Given the description of an element on the screen output the (x, y) to click on. 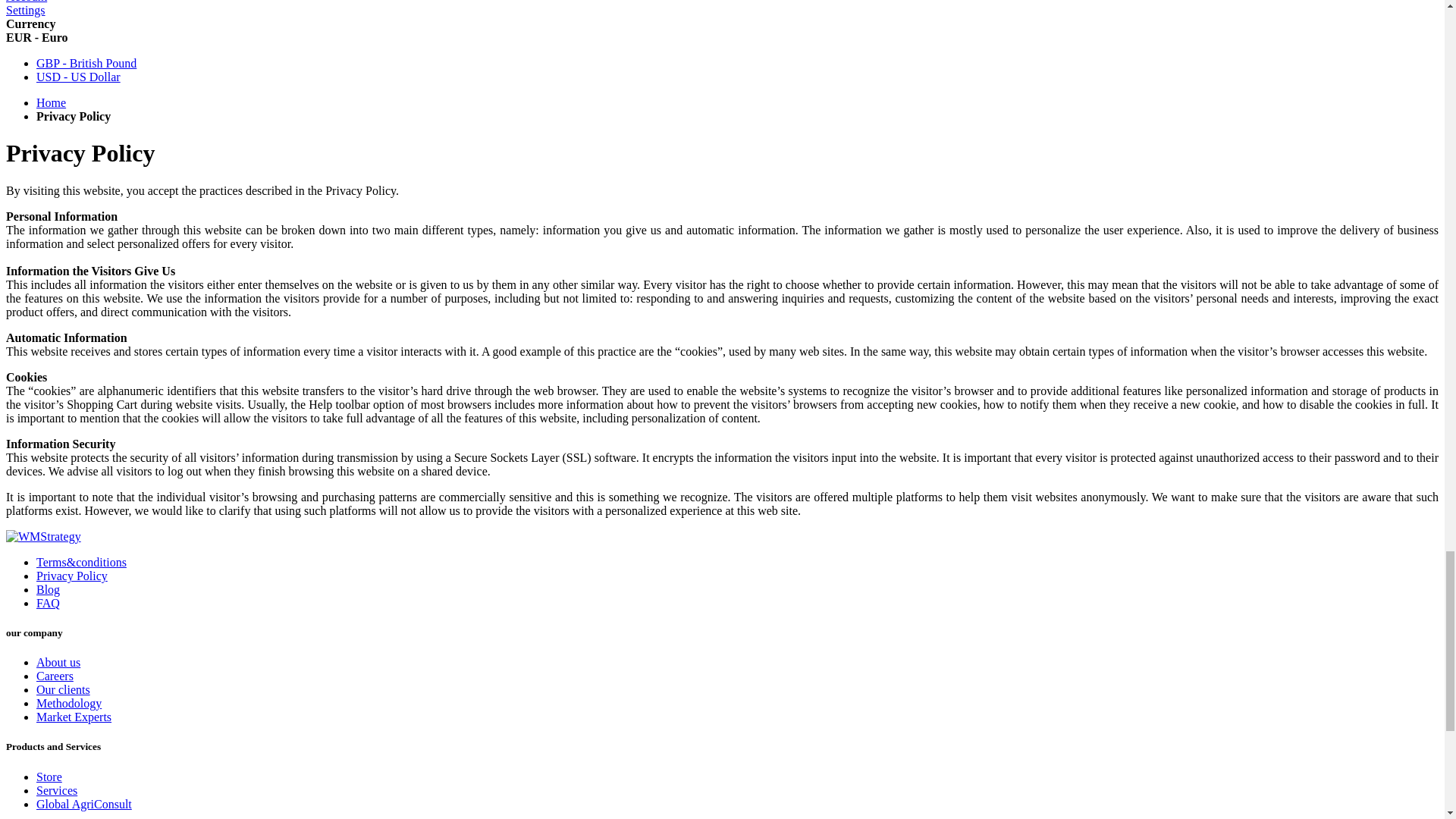
Go to Home Page (50, 102)
Services (56, 789)
Methodology (68, 703)
Global AgriConsult (84, 803)
Our clients (63, 689)
Privacy Policy (71, 575)
Careers (55, 675)
About us (58, 662)
Store (49, 776)
